Given the description of an element on the screen output the (x, y) to click on. 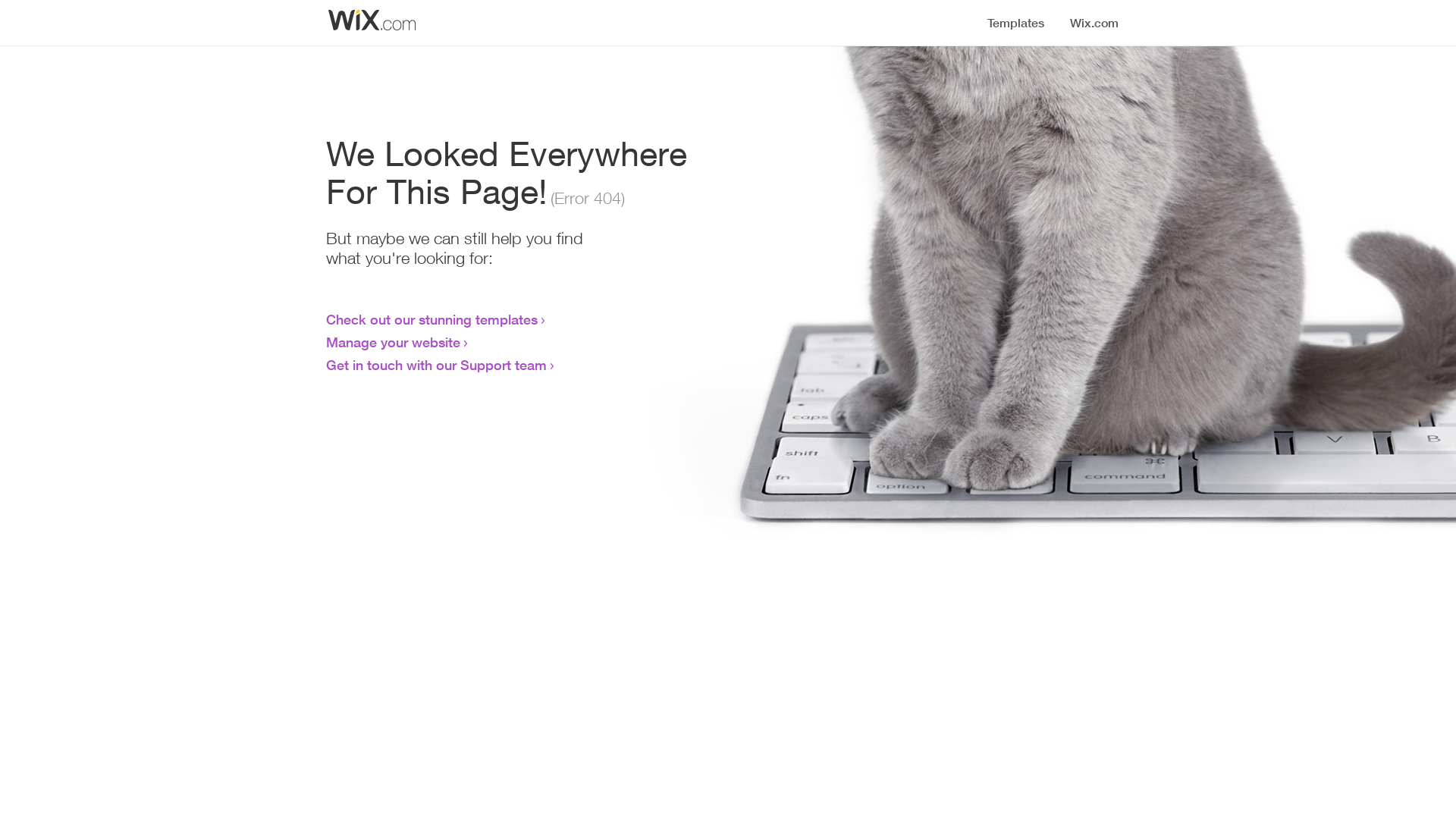
Manage your website Element type: text (393, 341)
Check out our stunning templates Element type: text (431, 318)
Get in touch with our Support team Element type: text (436, 364)
